Given the description of an element on the screen output the (x, y) to click on. 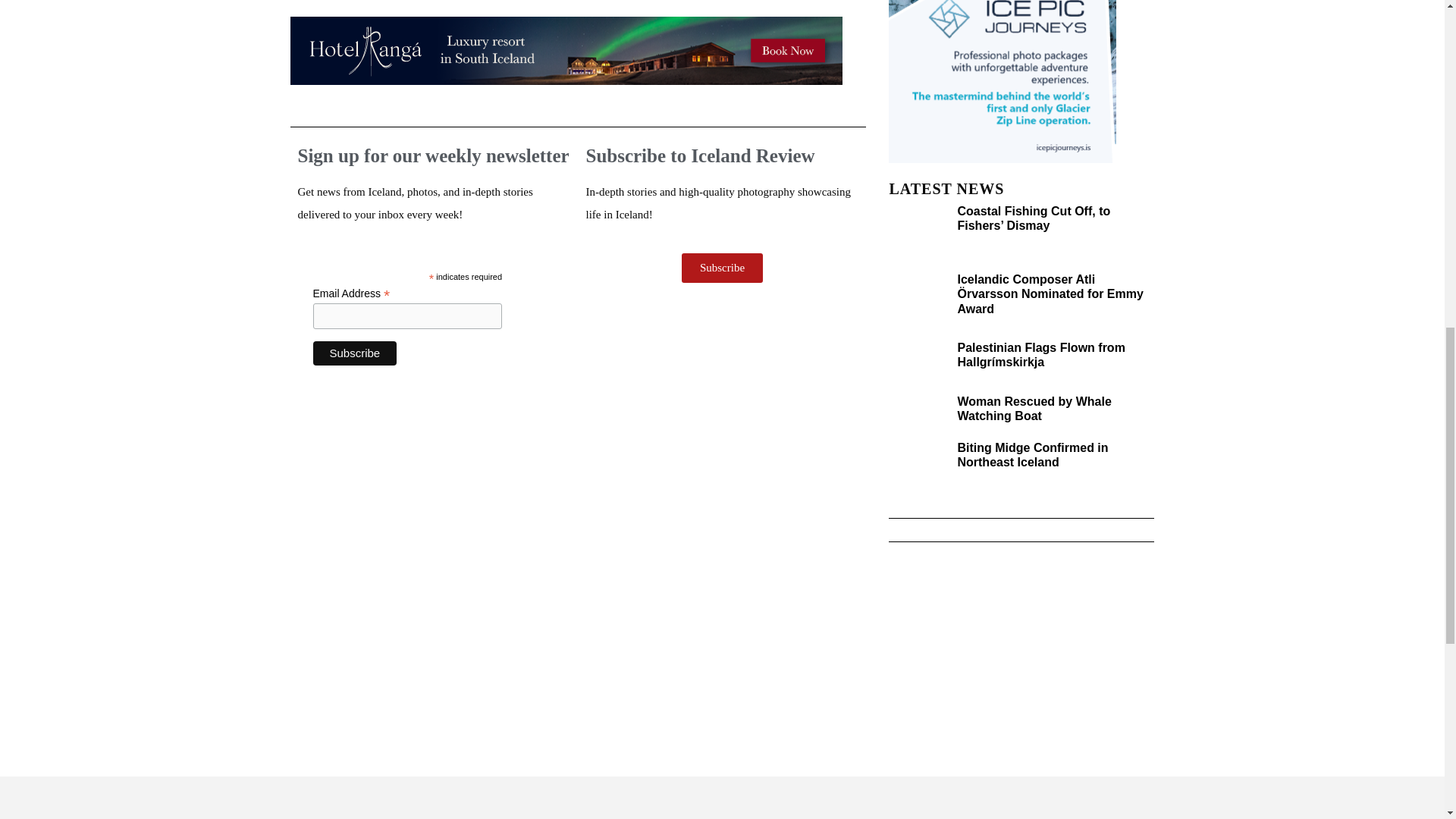
Subscribe (354, 353)
Biting Midge Confirmed in Northeast Iceland (1032, 454)
Woman Rescued by Whale Watching Boat (1033, 408)
